Given the description of an element on the screen output the (x, y) to click on. 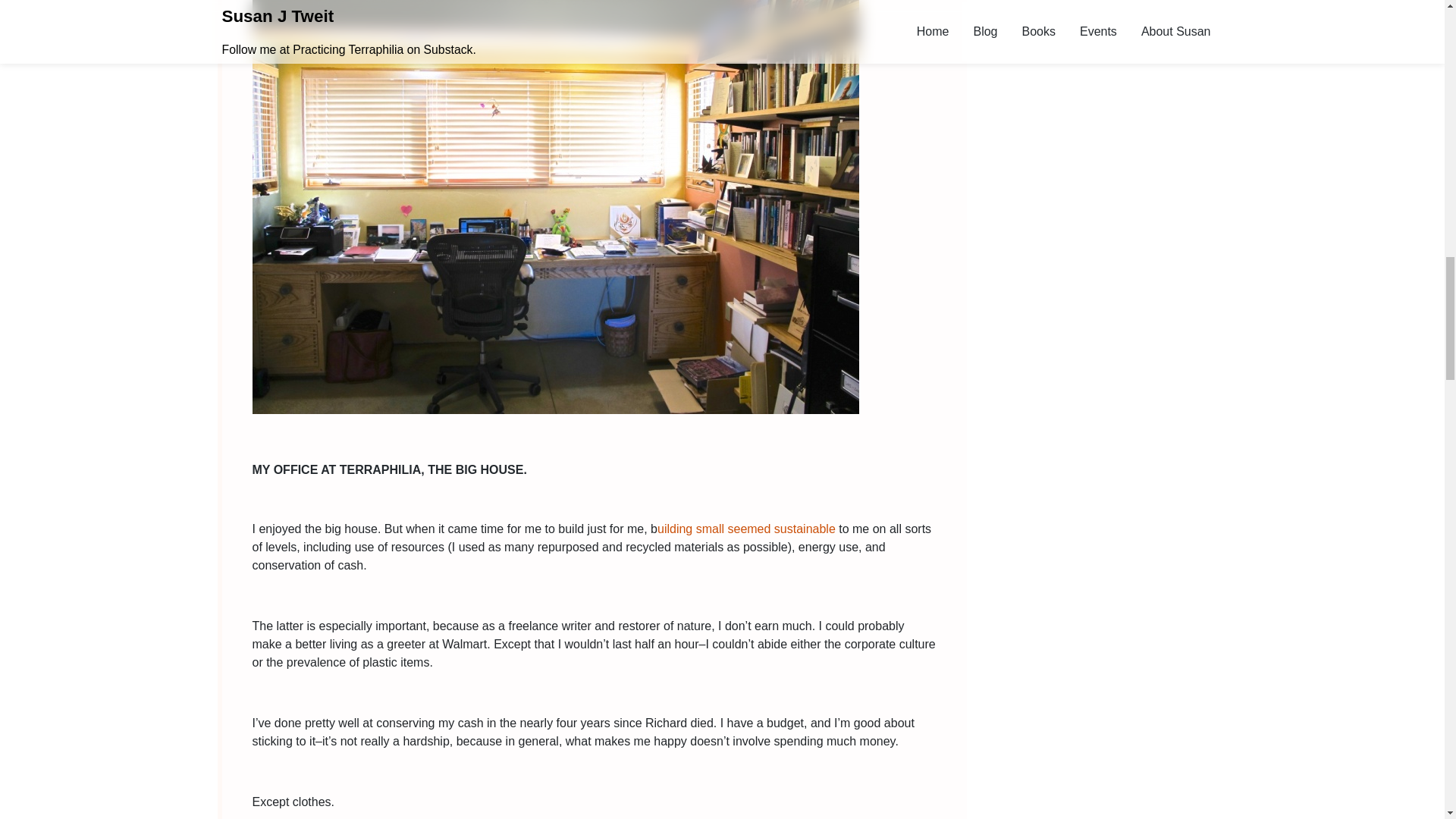
uilding small seemed sustainable (746, 528)
